Given the description of an element on the screen output the (x, y) to click on. 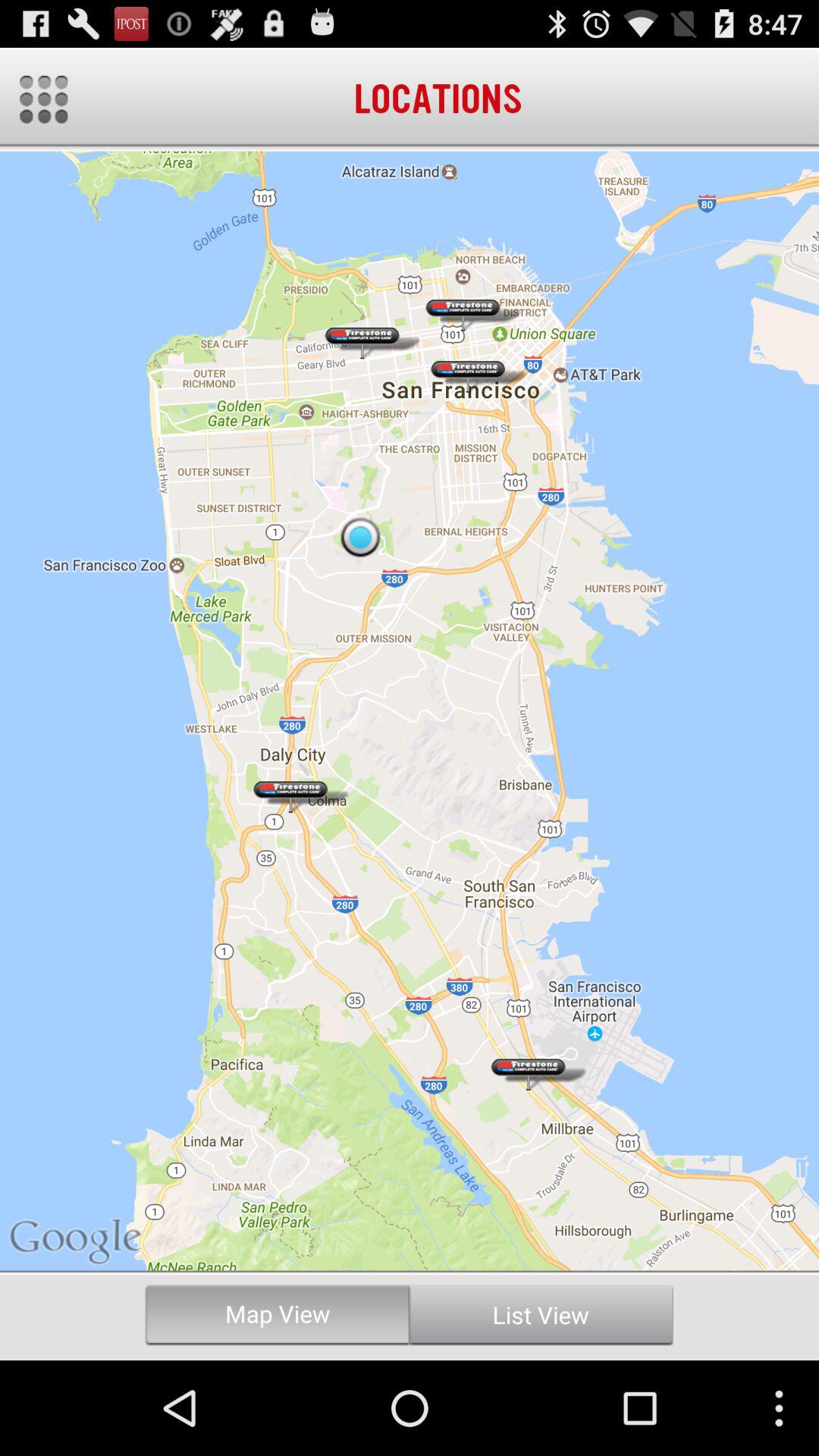
go to menu (43, 99)
